Given the description of an element on the screen output the (x, y) to click on. 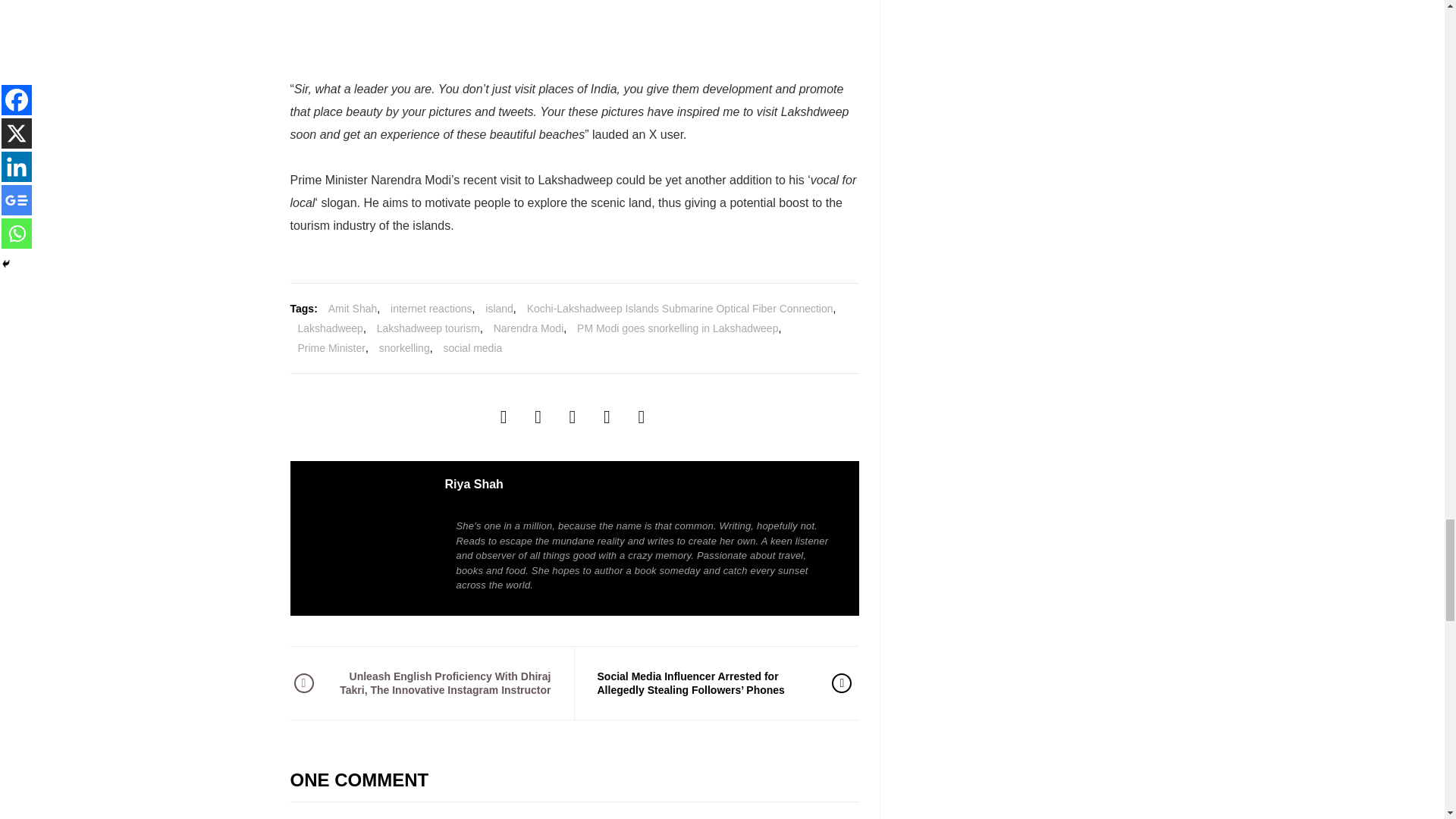
Amit Shah (353, 308)
internet reactions (430, 308)
